Given the description of an element on the screen output the (x, y) to click on. 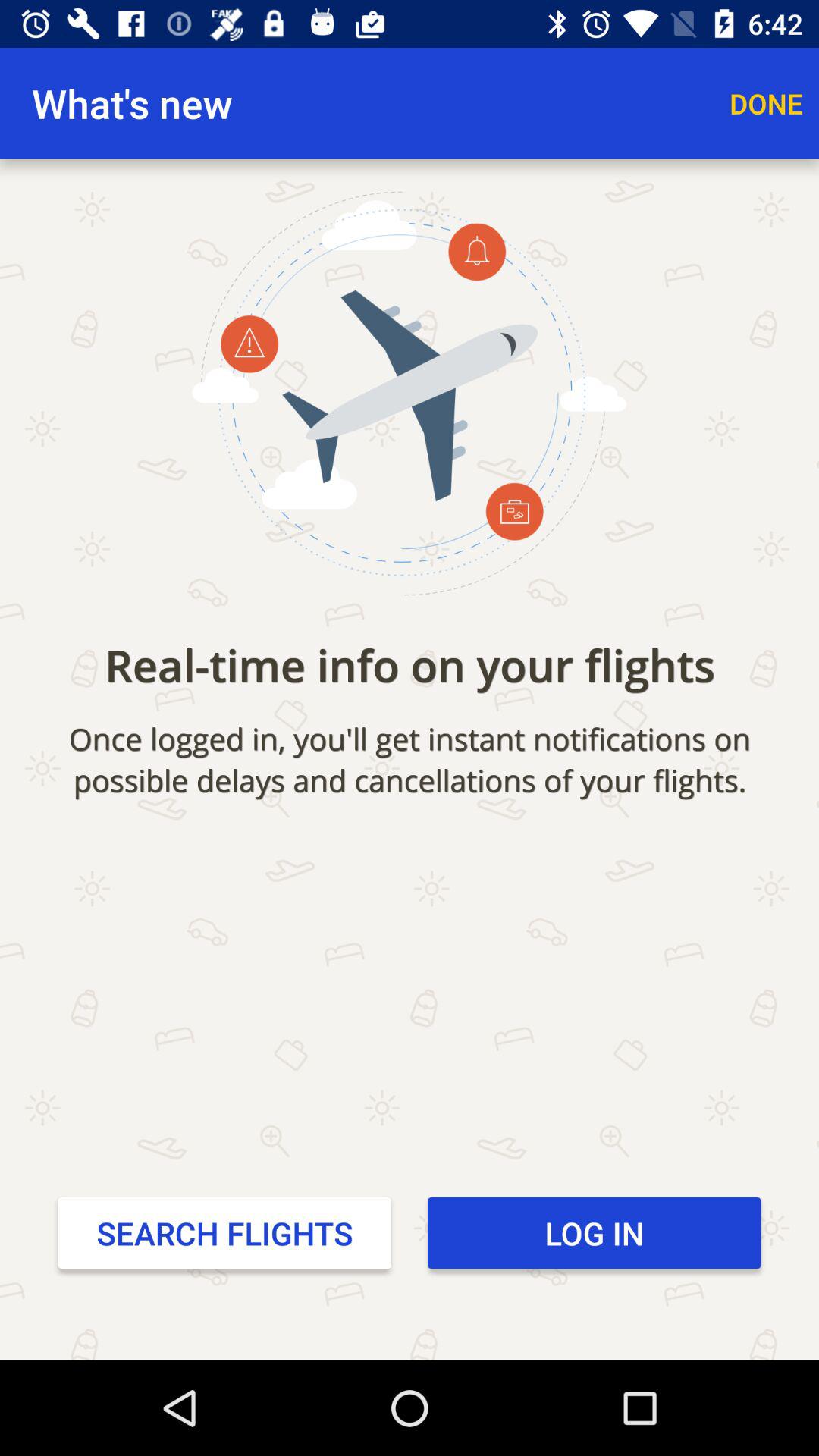
click the icon to the left of the log in item (224, 1232)
